Given the description of an element on the screen output the (x, y) to click on. 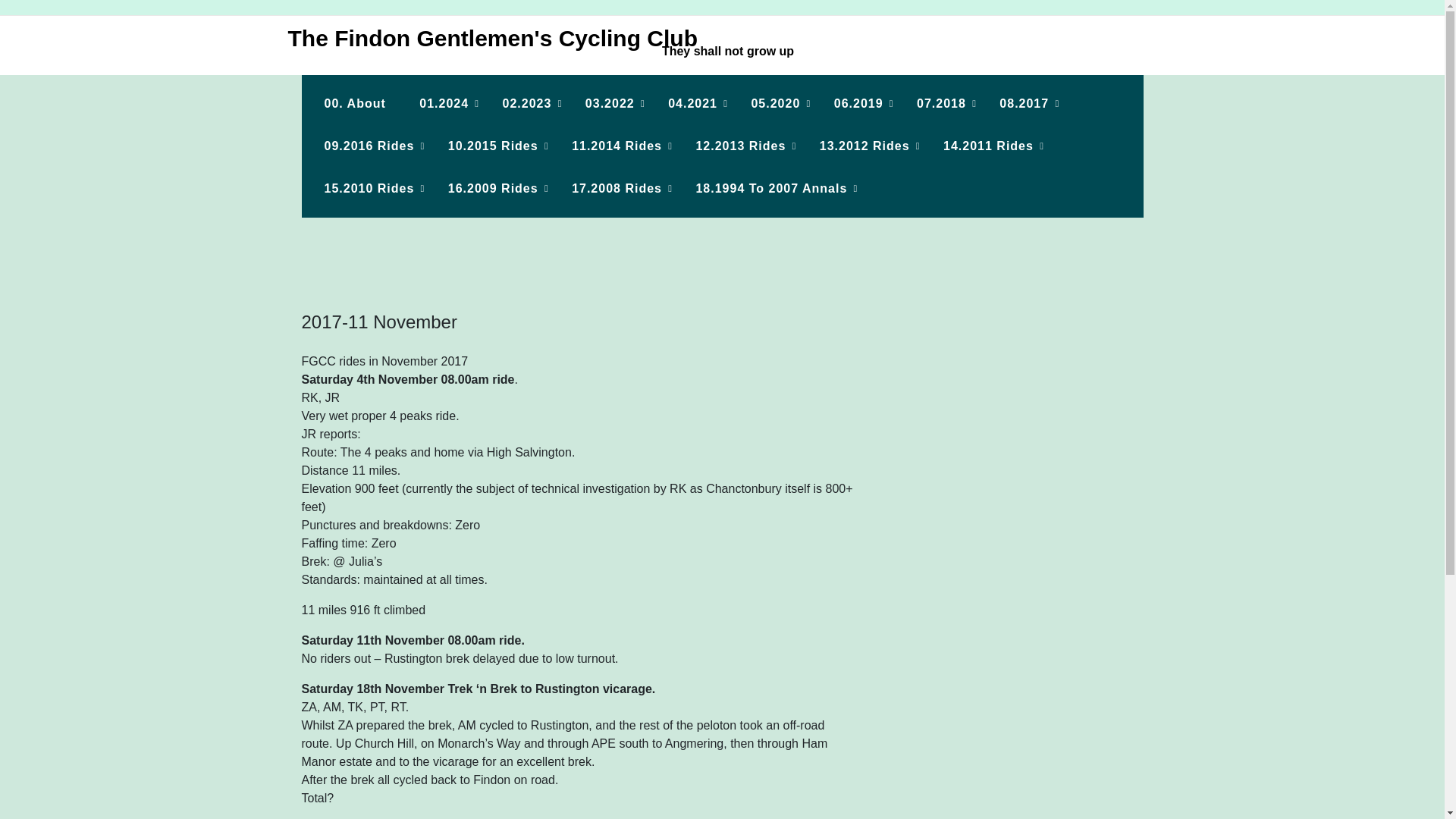
01.2024 (443, 103)
00. About (354, 103)
03.2022 (609, 103)
The Findon Gentlemen's Cycling Club (486, 37)
The Findon Gentlemen's Cycling Club (486, 37)
02.2023 (527, 103)
